Given the description of an element on the screen output the (x, y) to click on. 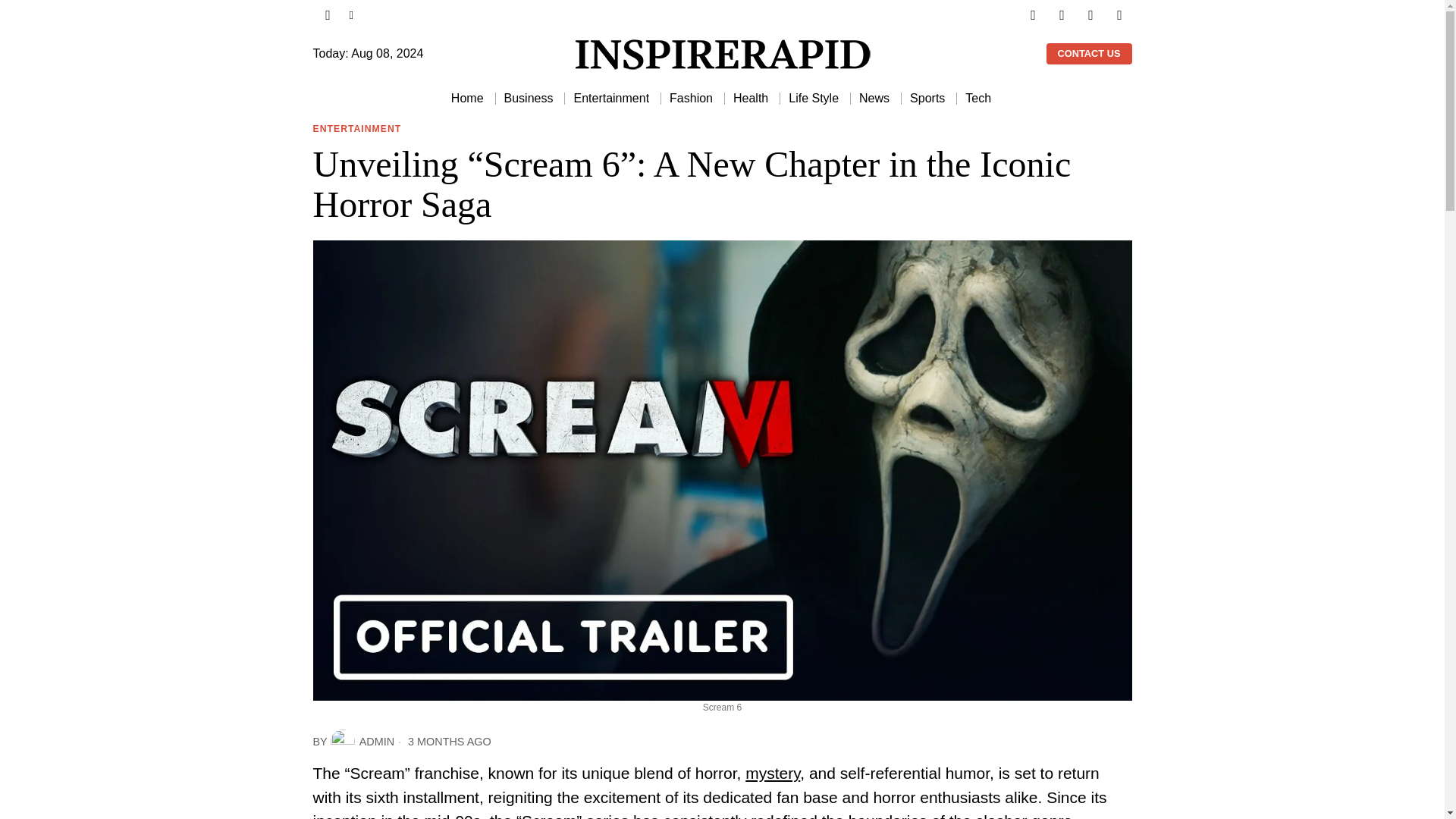
Home (468, 98)
ENTERTAINMENT (357, 129)
20 May, 2024 21:04:28 (443, 741)
mystery (772, 773)
Tech (979, 98)
News (875, 98)
Business (529, 98)
Fashion (692, 98)
Entertainment (612, 98)
CONTACT US (1089, 53)
Health (750, 98)
Life Style (814, 98)
Sports (928, 98)
ADMIN (362, 741)
